Given the description of an element on the screen output the (x, y) to click on. 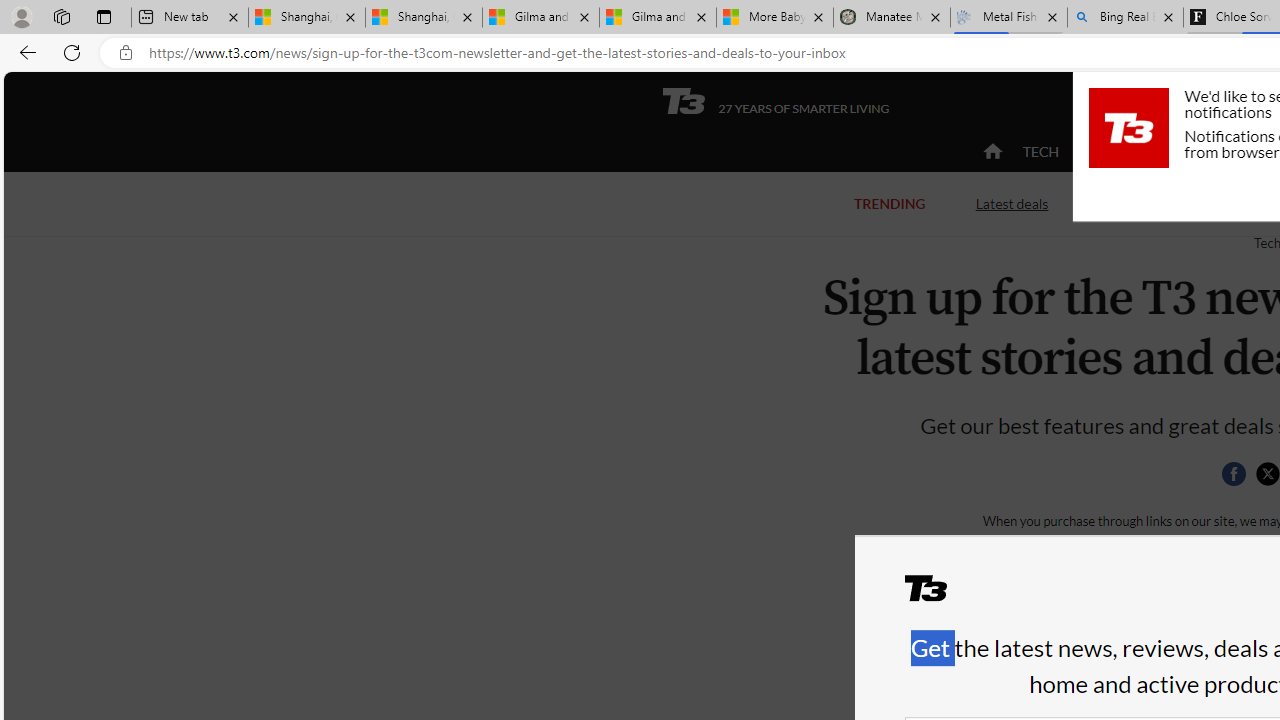
Class: navigation__item (990, 151)
Gilma and Hector both pose tropical trouble for Hawaii (657, 17)
home (992, 152)
Back to Class 2024 (1178, 202)
